Given the description of an element on the screen output the (x, y) to click on. 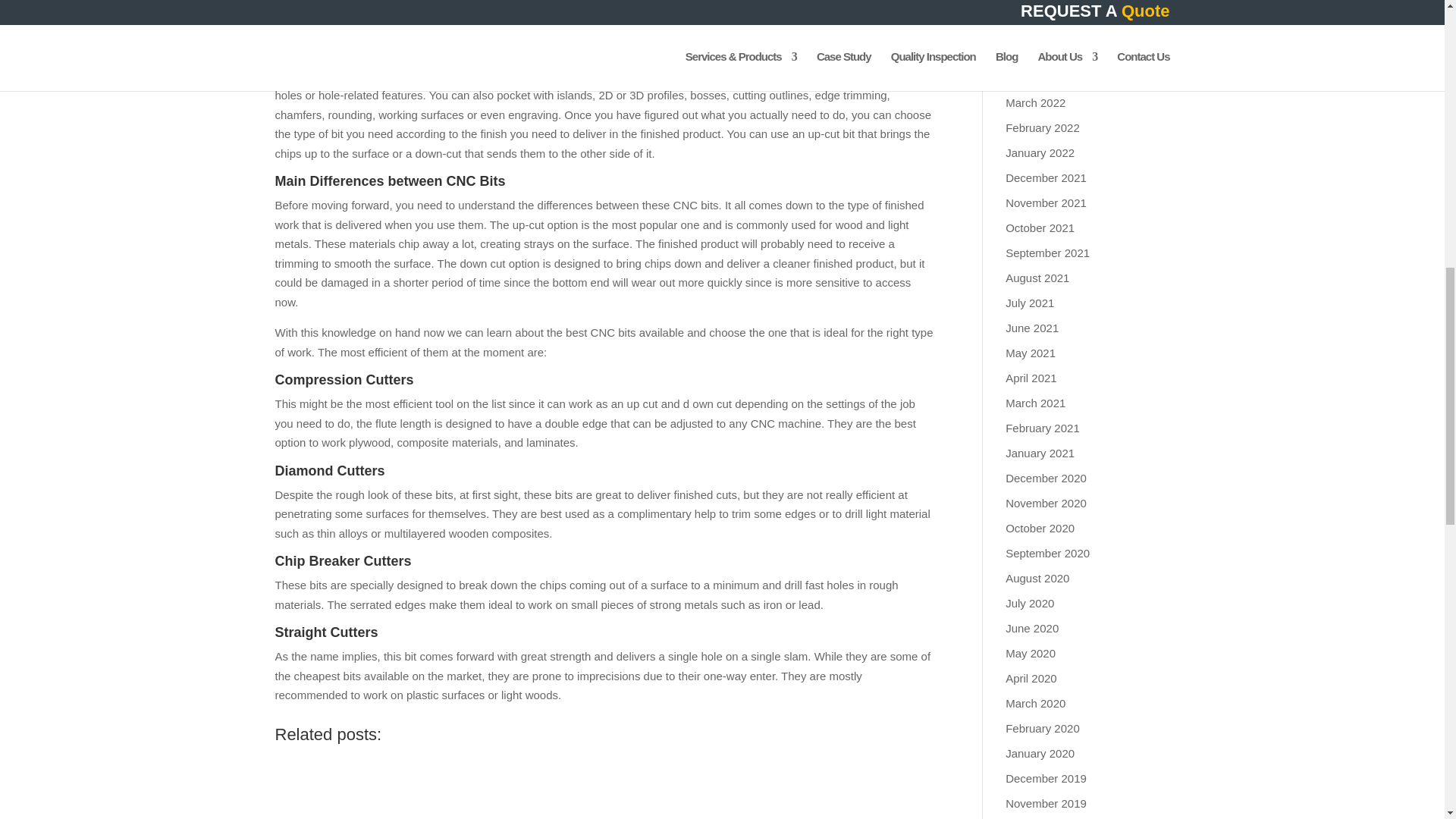
What Are the Benefits of CNC Machines? (580, 785)
cncrouterparts.com (667, 5)
4 Causes for Broken Cutter on CNC Machines (336, 785)
